Given the description of an element on the screen output the (x, y) to click on. 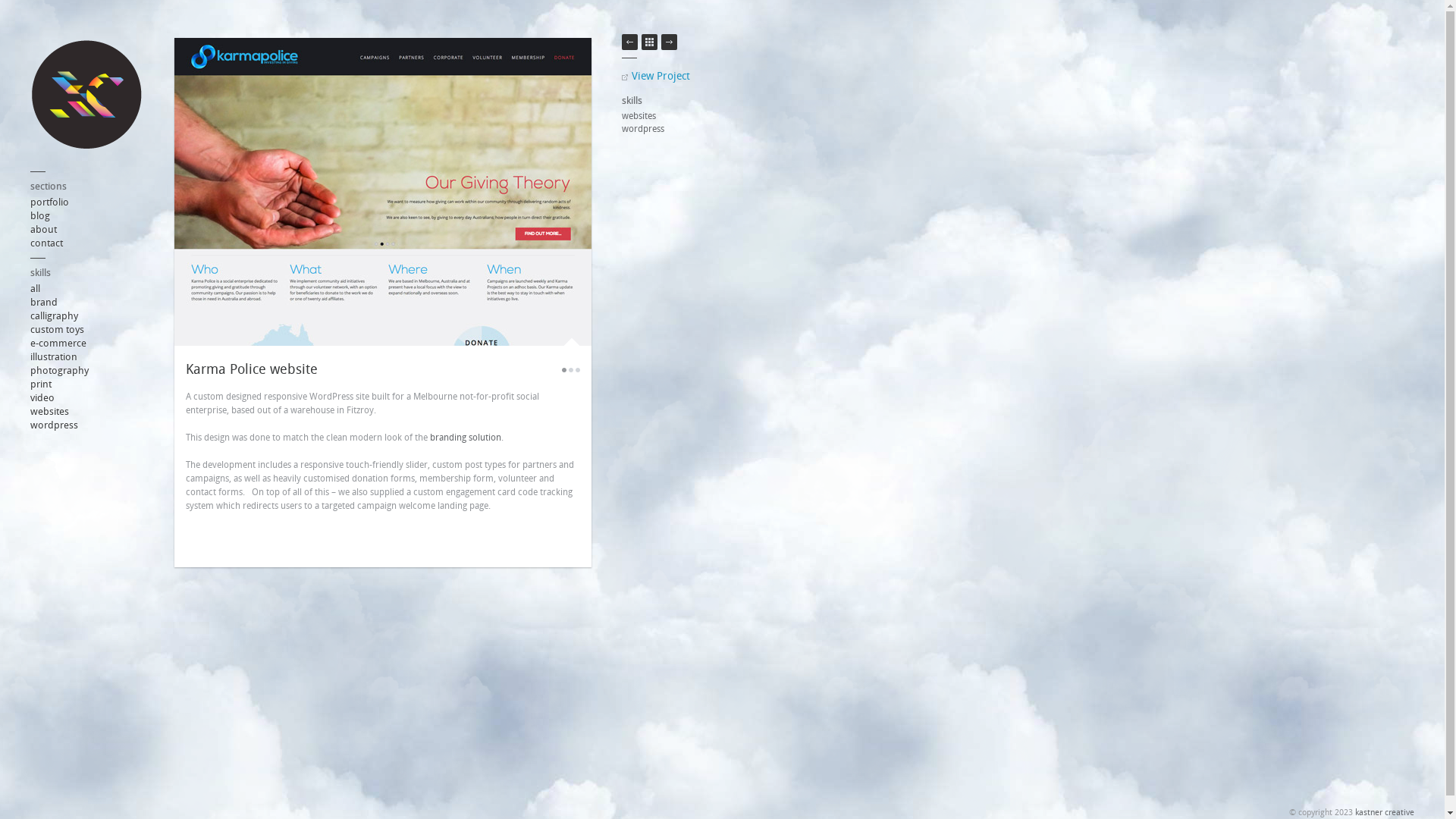
brand Element type: text (43, 301)
e-commerce Element type: text (58, 342)
The Pool Element type: text (669, 42)
photography Element type: text (59, 370)
about Element type: text (43, 229)
wordpress Element type: text (54, 424)
1 Element type: text (563, 369)
2 Element type: text (570, 369)
calligraphy Element type: text (54, 315)
portfolio Element type: text (49, 201)
print Element type: text (40, 383)
View Project Element type: text (678, 75)
blog Element type: text (40, 215)
all Element type: text (35, 288)
3 Element type: text (577, 369)
websites Element type: text (49, 411)
Back to Portfolio Element type: text (649, 42)
contact Element type: text (46, 242)
wordpress Element type: text (678, 128)
kastner creative Element type: text (1384, 812)
Kastner Creative Element type: hover (87, 96)
websites Element type: text (678, 115)
branding solution Element type: text (465, 437)
custom toys Element type: text (57, 329)
video Element type: text (42, 397)
Marquis Bar Photos Element type: text (629, 42)
illustration Element type: text (53, 356)
